Given the description of an element on the screen output the (x, y) to click on. 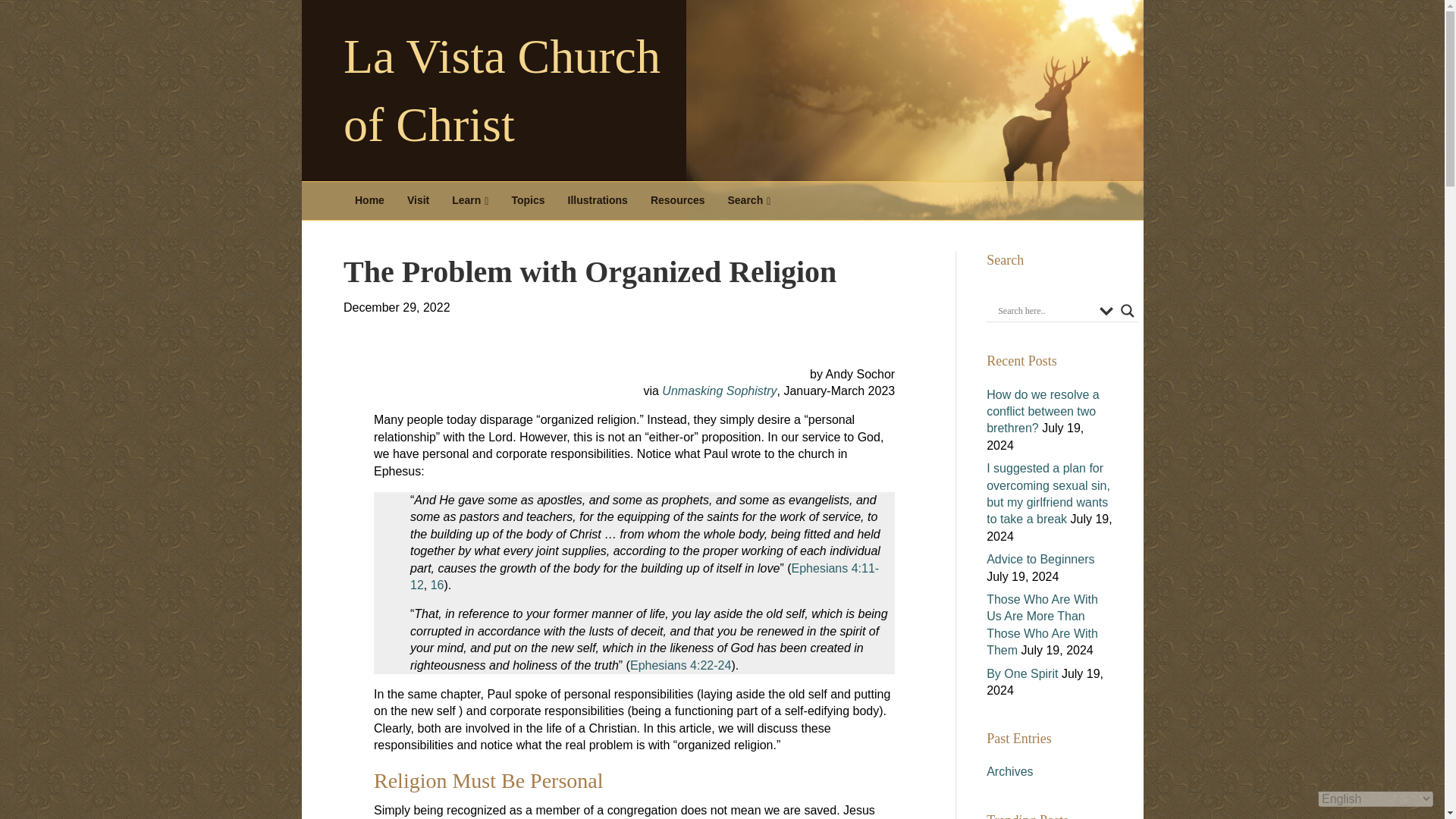
Unmasking Sophistry (719, 390)
Home (369, 200)
16 (437, 584)
Ephesians 4:11-12 (644, 576)
Resources (677, 200)
Topics (527, 200)
Visit (418, 200)
Search (748, 200)
Illustrations (597, 200)
La Vista Church of Christ (521, 90)
Learn (470, 200)
